Given the description of an element on the screen output the (x, y) to click on. 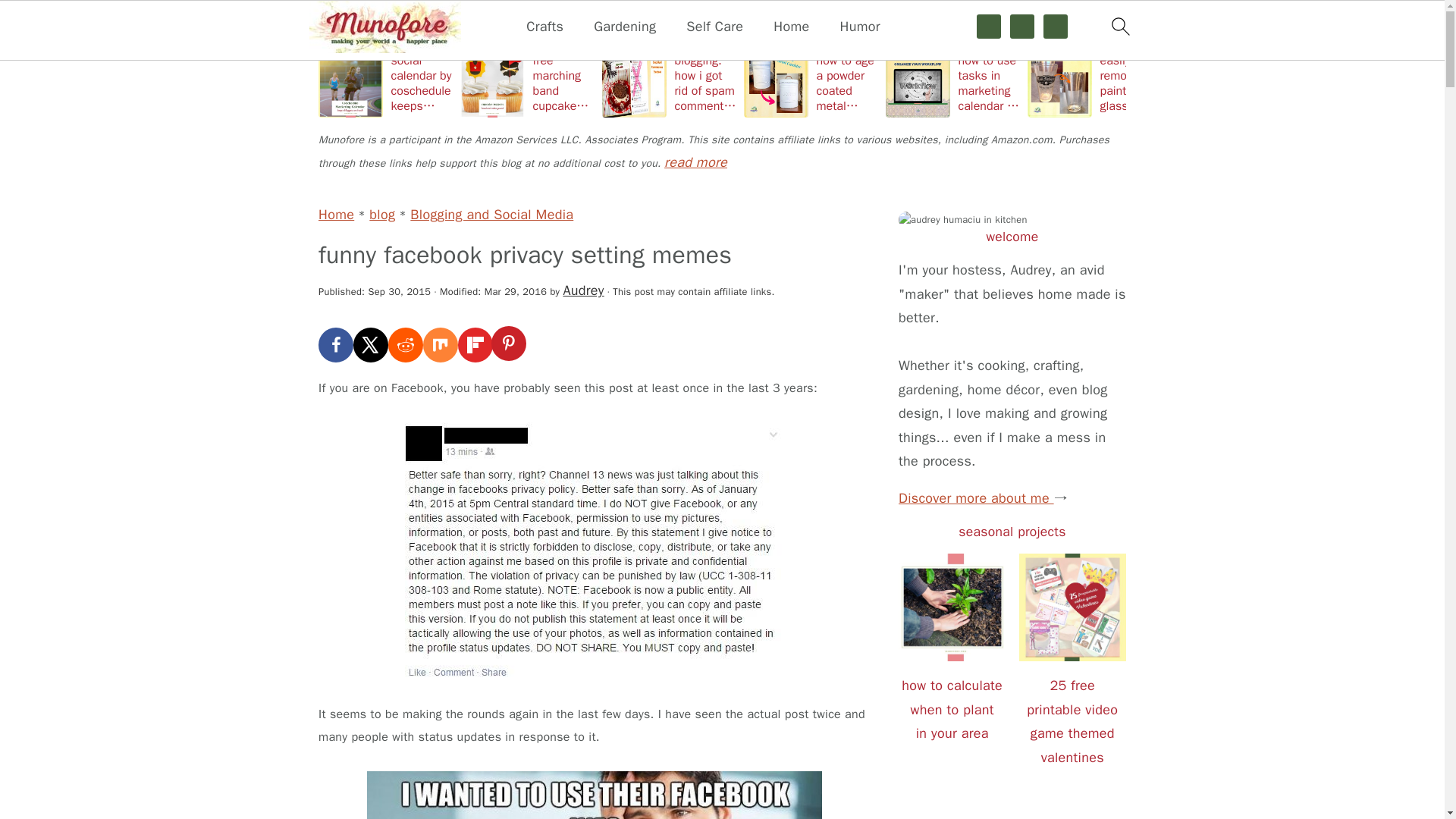
Self Care (713, 26)
Share on X (370, 344)
Save to Pinterest (510, 344)
Humor (859, 26)
Crafts (544, 26)
Gardening (625, 26)
search icon (1119, 26)
Share on Facebook (335, 344)
Share on Reddit (405, 344)
